Given the description of an element on the screen output the (x, y) to click on. 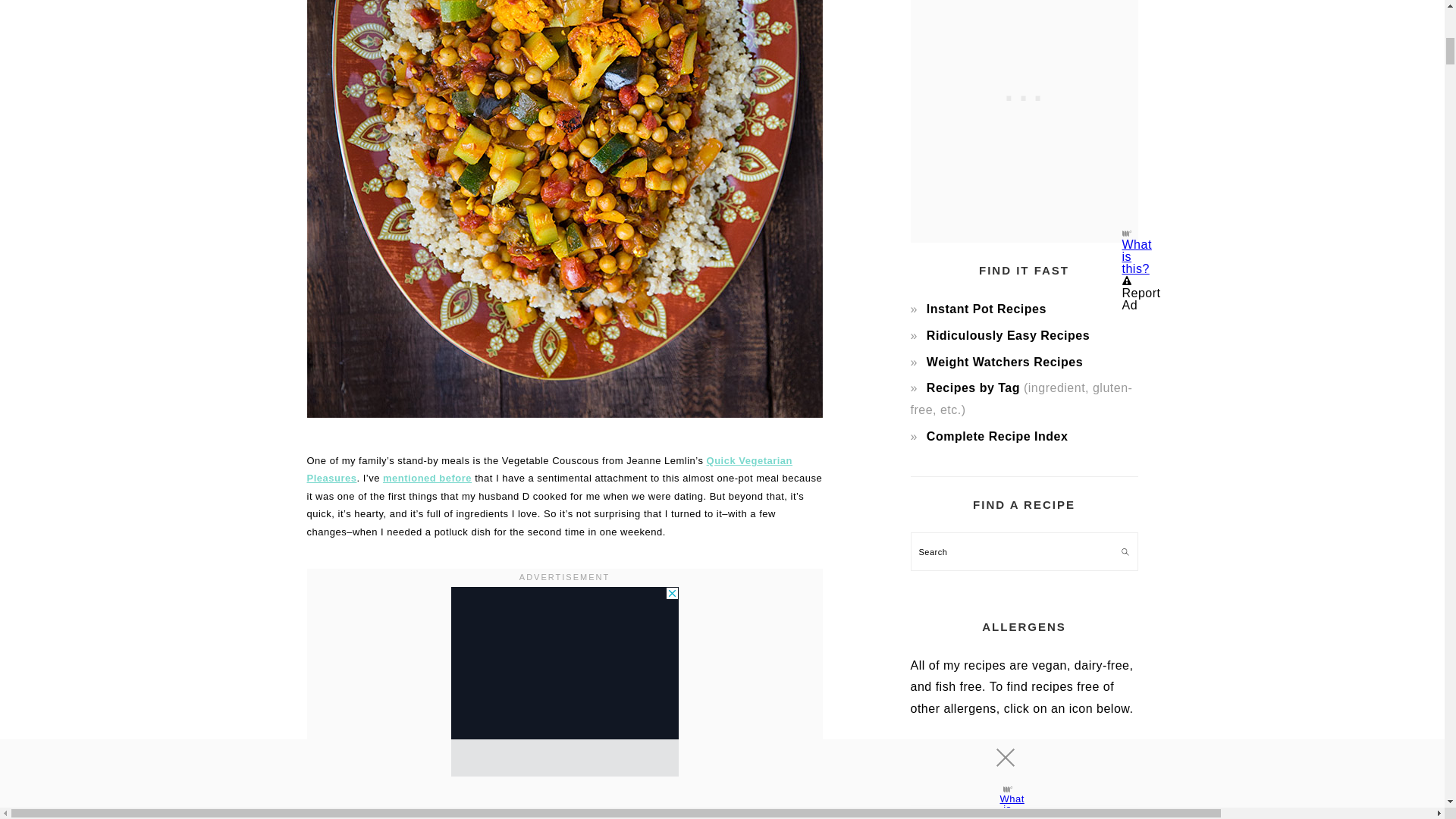
3rd party ad content (563, 681)
Quick Vegetarian Pleasures (548, 469)
mentioned before (426, 478)
